Given the description of an element on the screen output the (x, y) to click on. 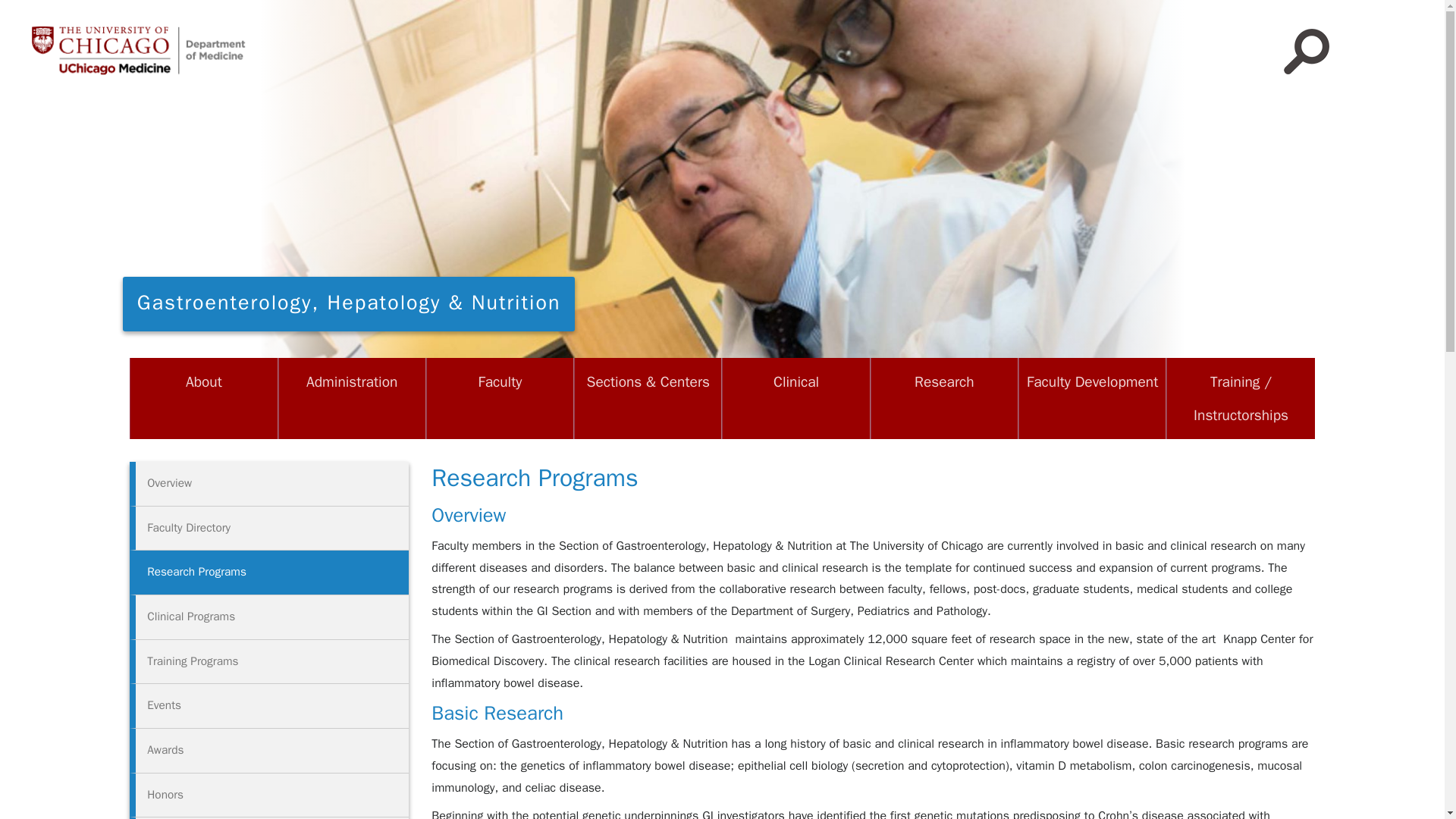
Clinical Programs (269, 617)
Clinical (795, 381)
Research (943, 381)
Clinical (795, 381)
Administration (352, 381)
Administration (352, 381)
Faculty Development (1092, 381)
Research (943, 381)
About (203, 381)
Faculty Directory (269, 528)
Faculty Development (1092, 381)
About (203, 381)
Training Programs (269, 661)
Faculty (499, 381)
Research Programs (269, 572)
